Given the description of an element on the screen output the (x, y) to click on. 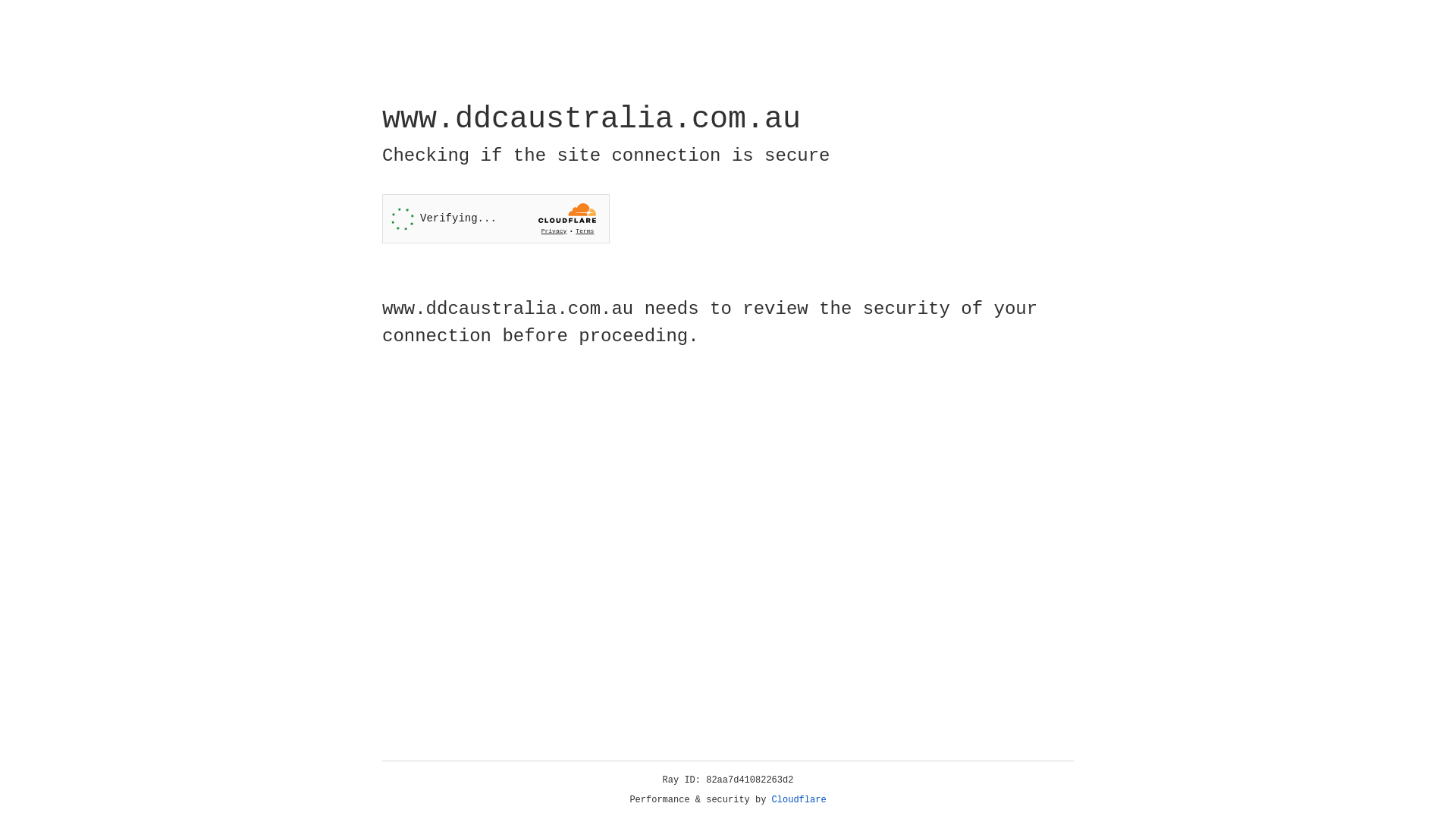
Widget containing a Cloudflare security challenge Element type: hover (495, 218)
Cloudflare Element type: text (798, 799)
